Given the description of an element on the screen output the (x, y) to click on. 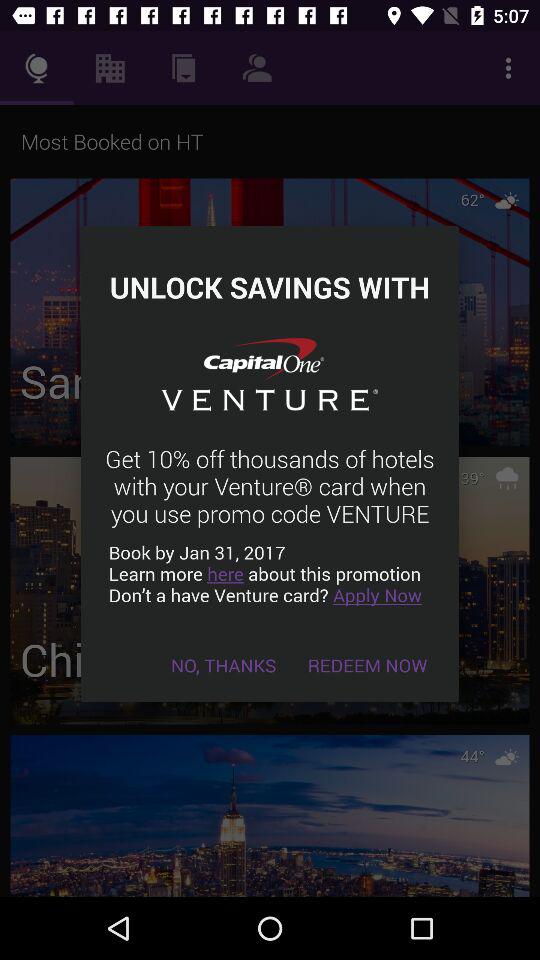
select item at the bottom (223, 664)
